Given the description of an element on the screen output the (x, y) to click on. 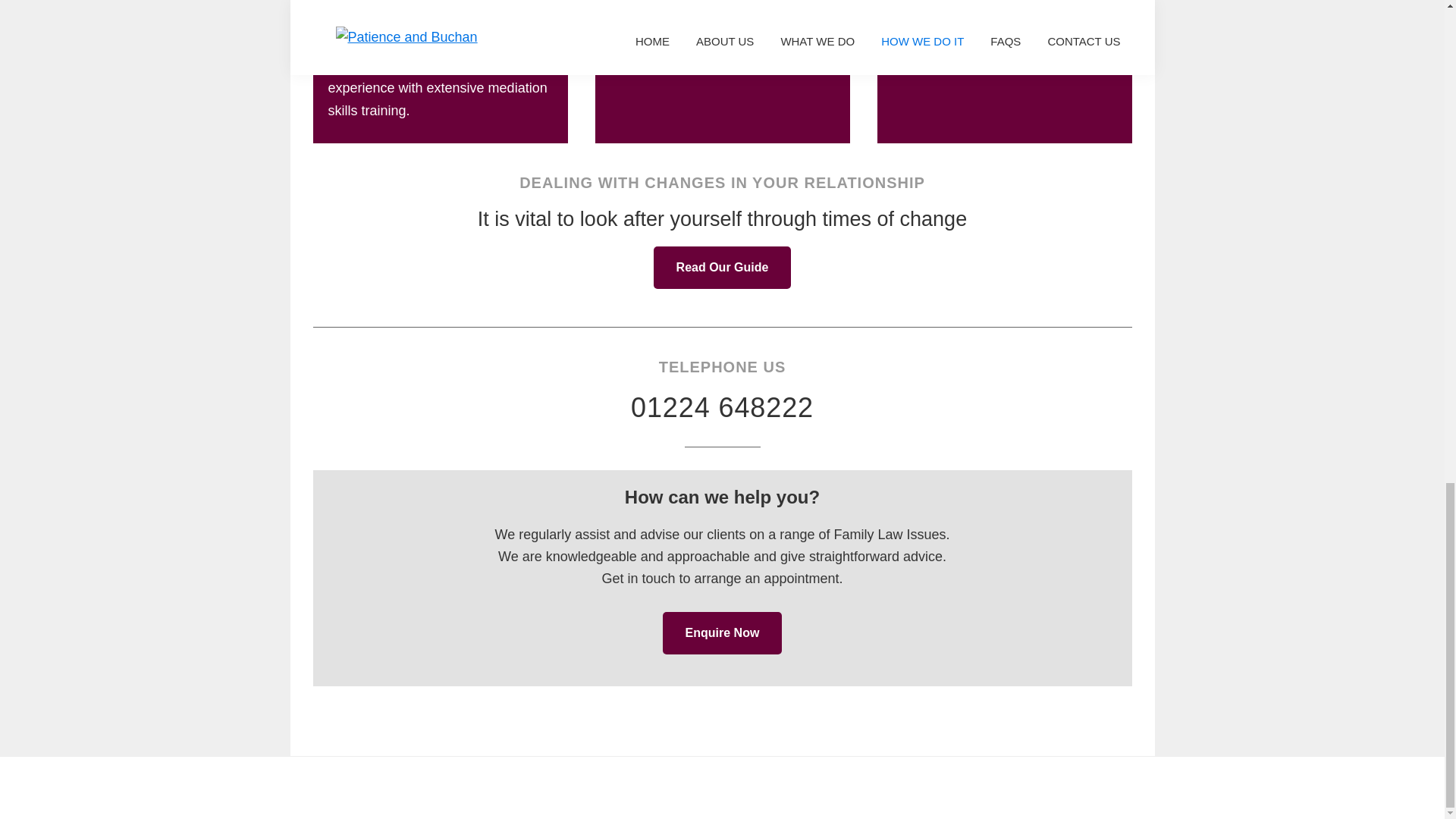
Read Our Guide (722, 267)
PRIVACY POLICY (944, 787)
Enquire Now (722, 632)
